Given the description of an element on the screen output the (x, y) to click on. 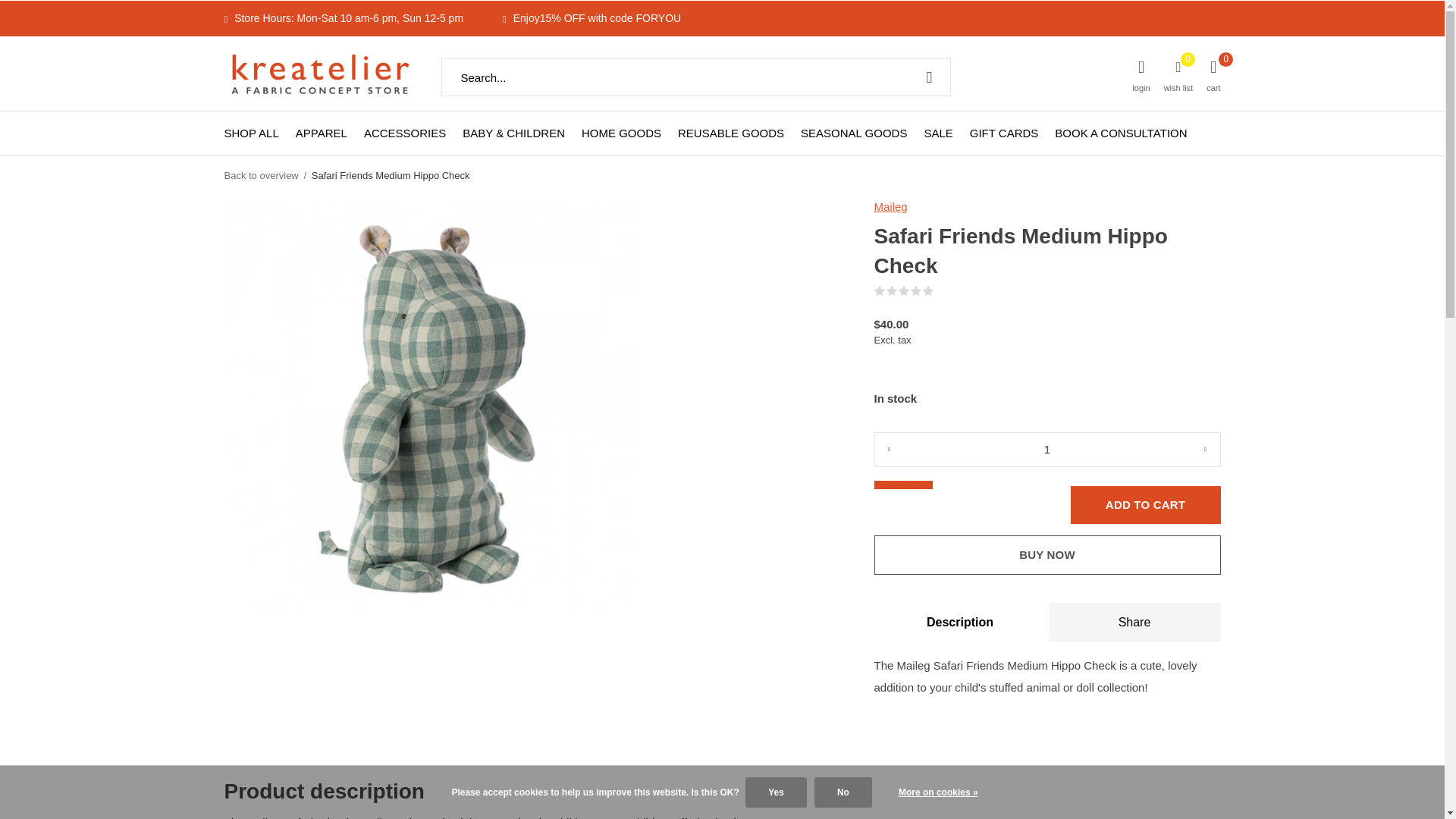
SHOP ALL (251, 132)
No (842, 792)
More on cookies (937, 792)
1 (1046, 449)
Yes (775, 792)
